Given the description of an element on the screen output the (x, y) to click on. 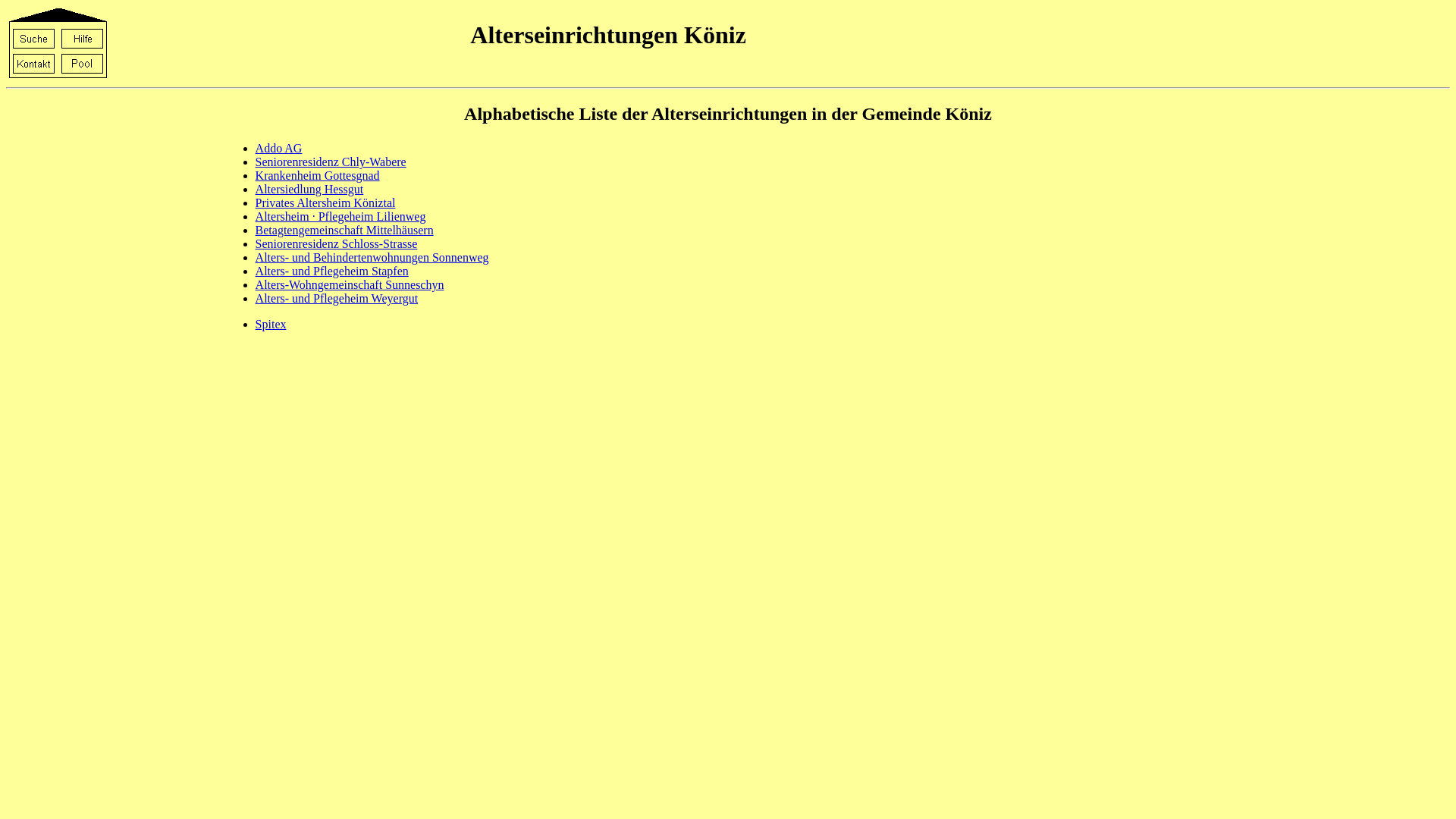
Alters-Wohngemeinschaft Sunneschyn Element type: text (349, 284)
Krankenheim Gottesgnad Element type: text (317, 175)
Seniorenresidenz Schloss-Strasse Element type: text (336, 243)
Alters- und Pflegeheim Weyergut Element type: text (336, 297)
Alters- und Pflegeheim Stapfen Element type: text (331, 270)
Altersiedlung Hessgut Element type: text (309, 188)
Spitex Element type: text (270, 323)
Seniorenresidenz Chly-Wabere Element type: text (330, 161)
Addo AG Element type: text (278, 147)
Alters- und Behindertenwohnungen Sonnenweg Element type: text (372, 257)
